Given the description of an element on the screen output the (x, y) to click on. 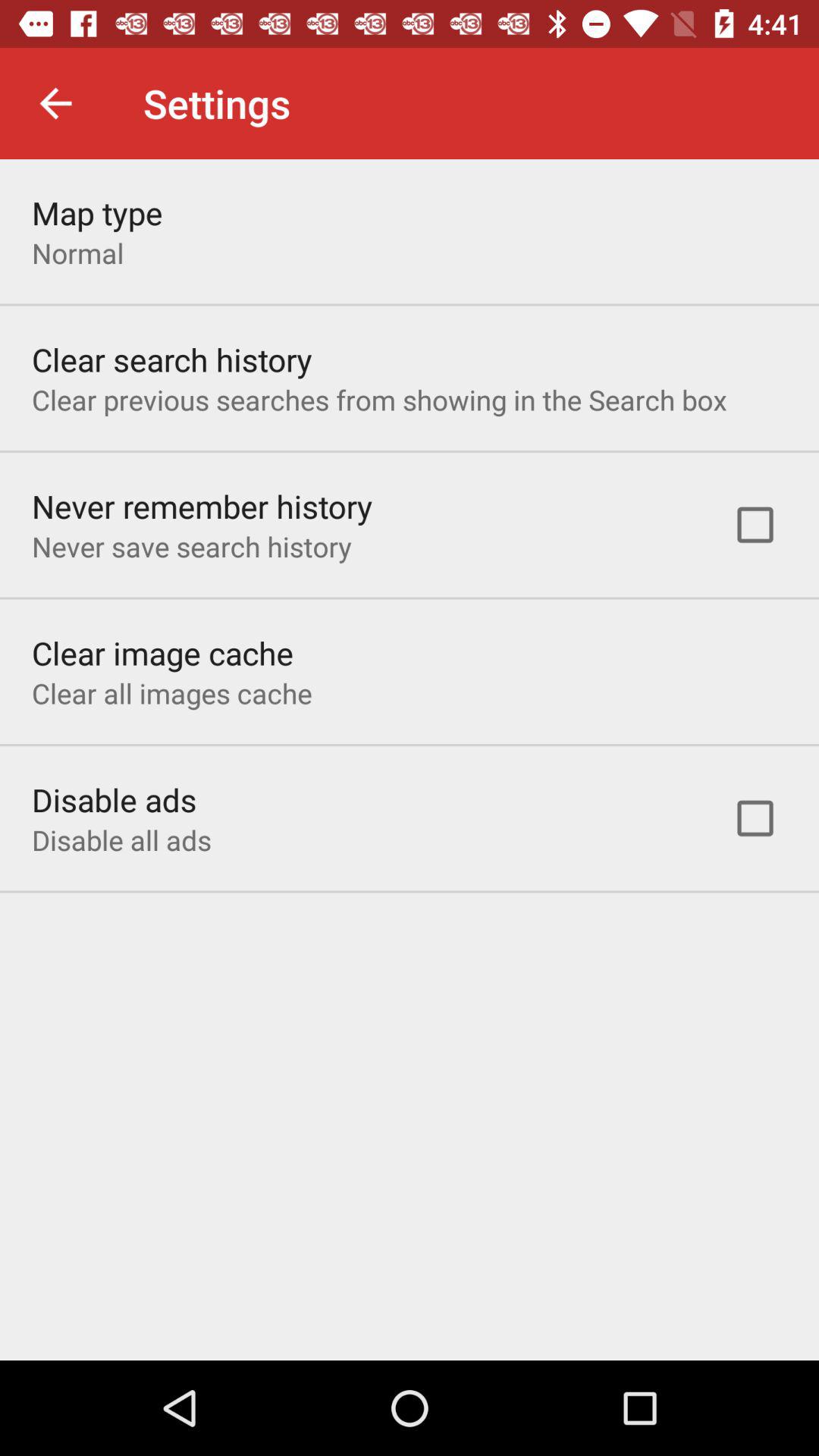
flip until the clear all images item (171, 693)
